Given the description of an element on the screen output the (x, y) to click on. 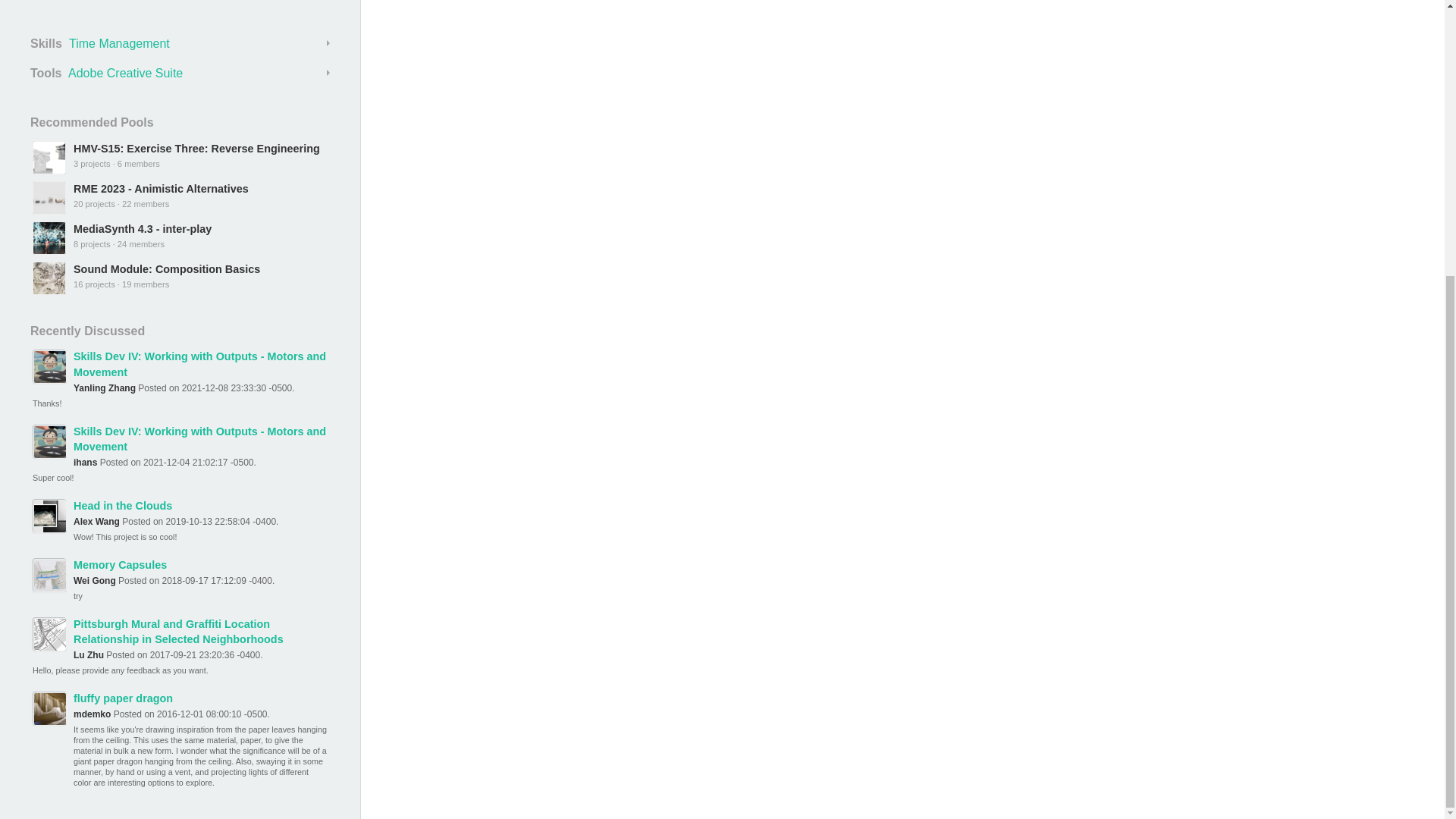
Skills Time Management (180, 44)
